Given the description of an element on the screen output the (x, y) to click on. 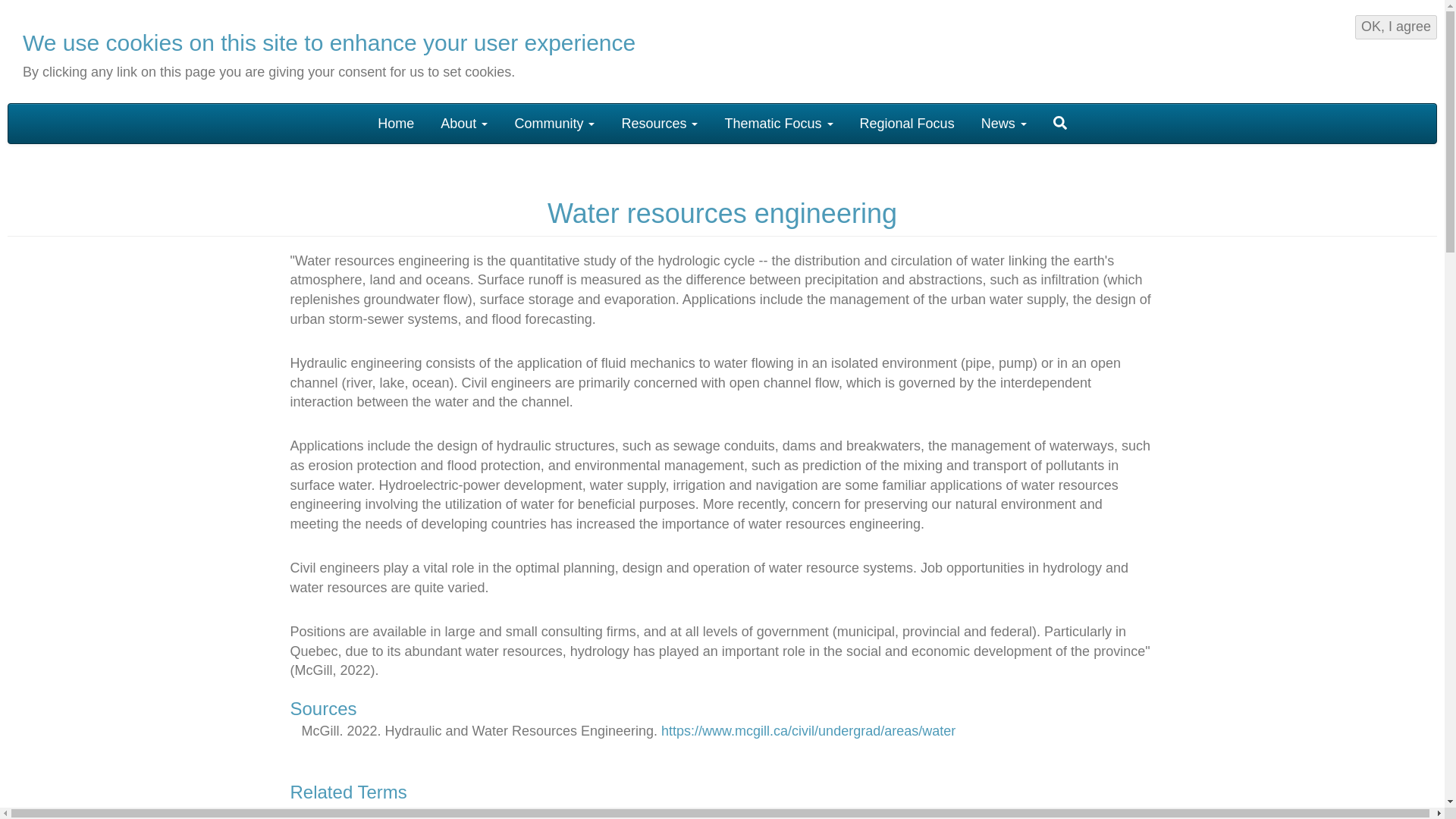
About (464, 123)
Regional Focus (907, 123)
News (1003, 123)
Prince Sultan Bin Abdulaziz International Price for Water (1342, 48)
Home (395, 123)
Resources (659, 123)
OK, I agree (1396, 27)
United Nations Office for Outer Space Affairs (1150, 48)
Home (116, 53)
Thematic Focus (778, 123)
Community (553, 123)
